Given the description of an element on the screen output the (x, y) to click on. 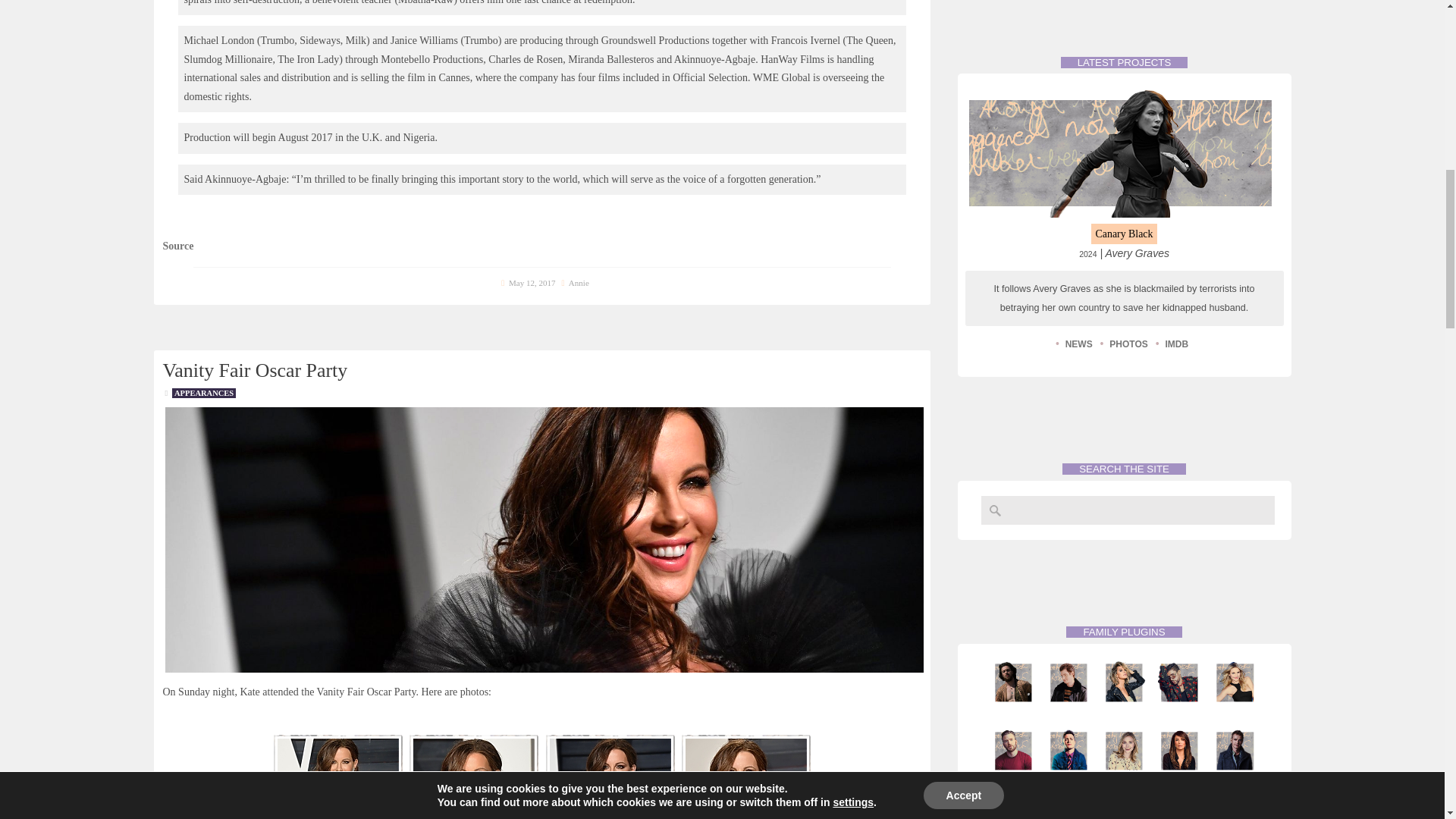
IMDB (1176, 343)
PHOTOS (1128, 343)
NEWS (1079, 343)
